Given the description of an element on the screen output the (x, y) to click on. 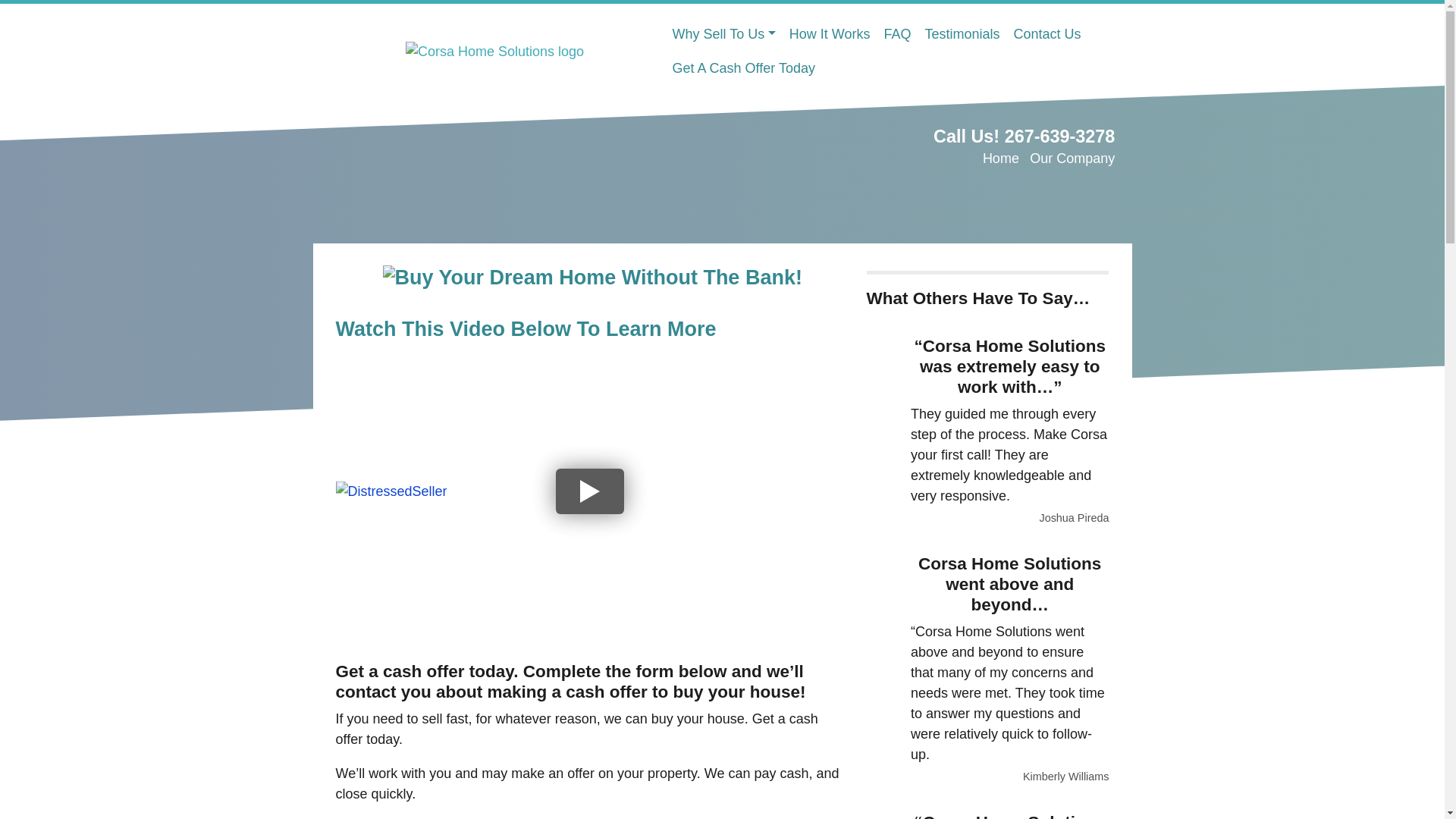
Our Company (1072, 158)
Testimonials (961, 34)
How It Works (830, 34)
Why Sell To Us (724, 34)
Contact Us (1047, 34)
FAQ (896, 34)
FAQ (896, 34)
Contact Us (1047, 34)
Get A Cash Offer Today (743, 68)
Home (1000, 158)
